Given the description of an element on the screen output the (x, y) to click on. 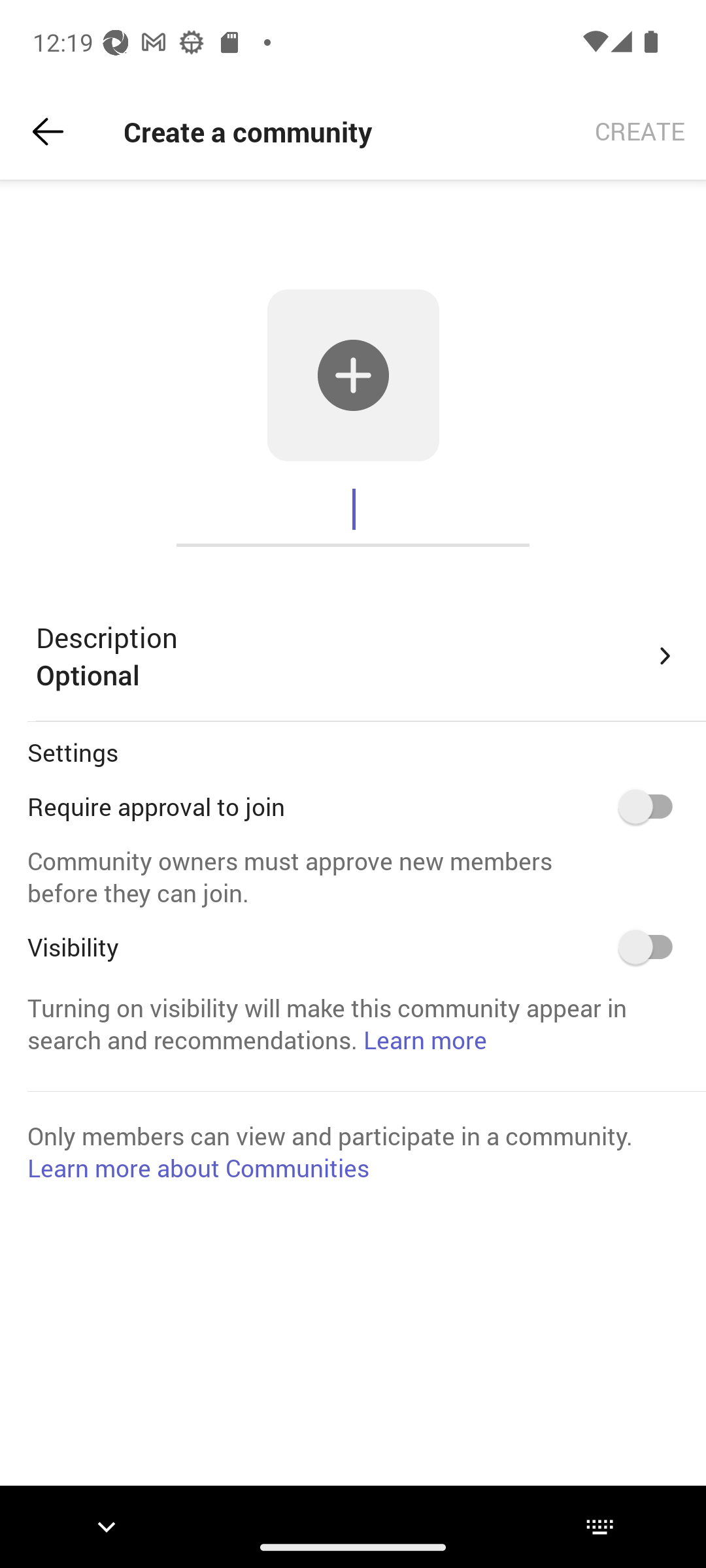
Back (48, 131)
CREATE (639, 131)
Add community image (353, 375)
Description Optional (357, 656)
Require approval to join (652, 806)
Visibility (652, 946)
